Given the description of an element on the screen output the (x, y) to click on. 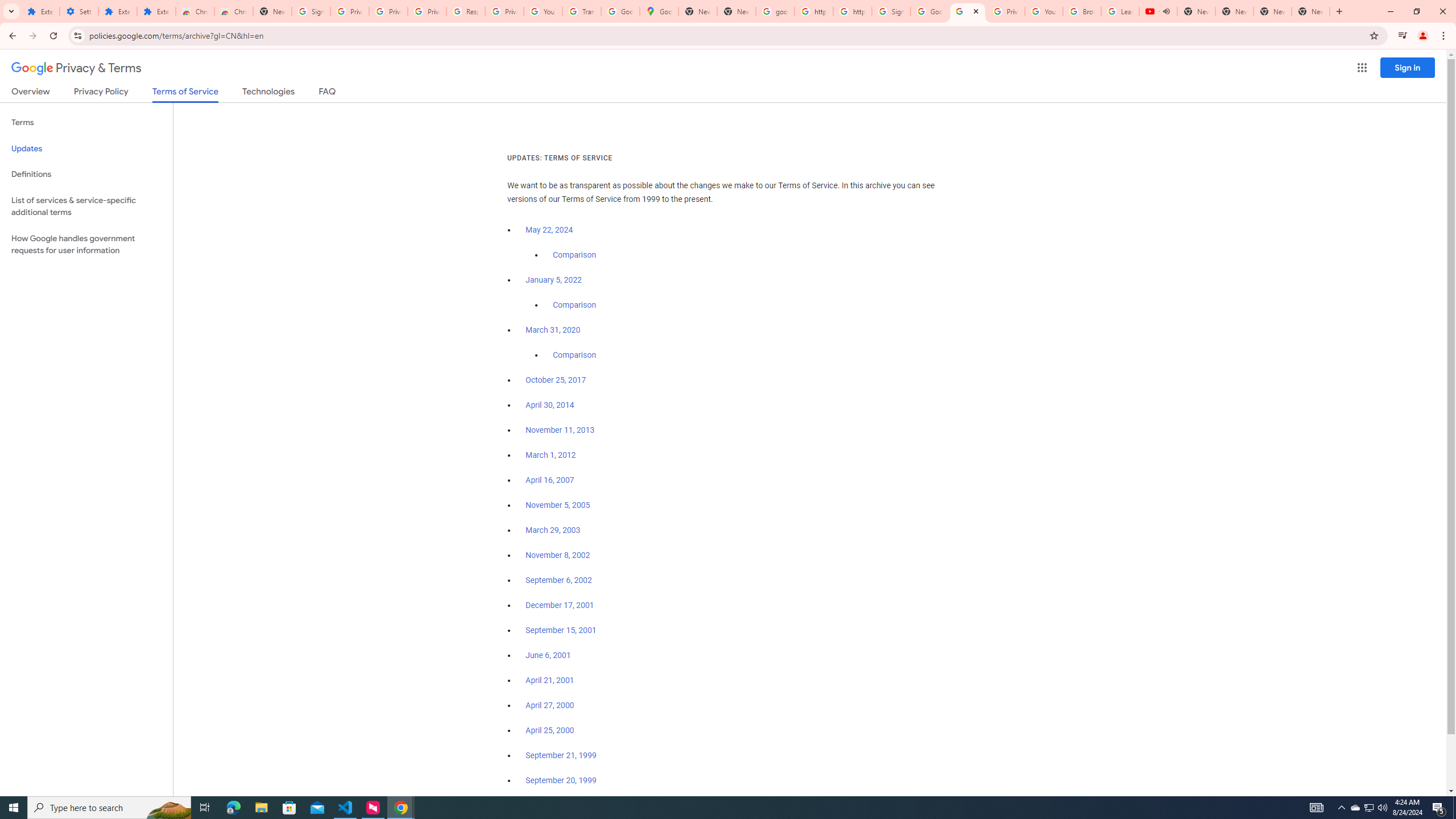
December 17, 2001 (559, 605)
Extensions (117, 11)
Definitions (86, 174)
October 25, 2017 (555, 380)
